Given the description of an element on the screen output the (x, y) to click on. 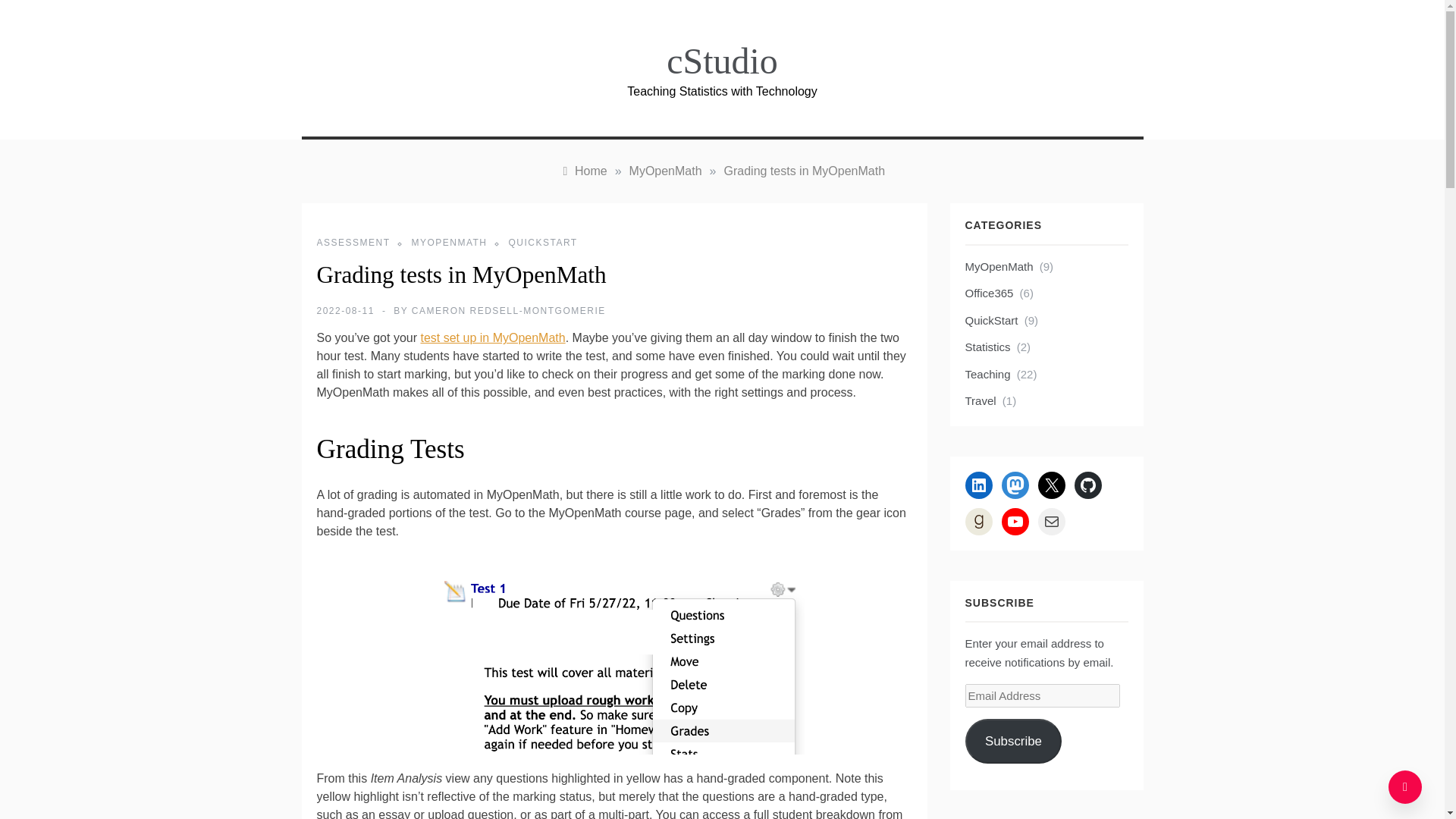
Mastodon (1014, 484)
Teaching (986, 374)
CAMERON REDSELL-MONTGOMERIE (508, 310)
Go to Top (1405, 786)
Home (583, 170)
ASSESSMENT (363, 242)
Goodreads (977, 521)
2022-08-11 (345, 310)
Travel (979, 401)
MyOpenMath (997, 266)
